Given the description of an element on the screen output the (x, y) to click on. 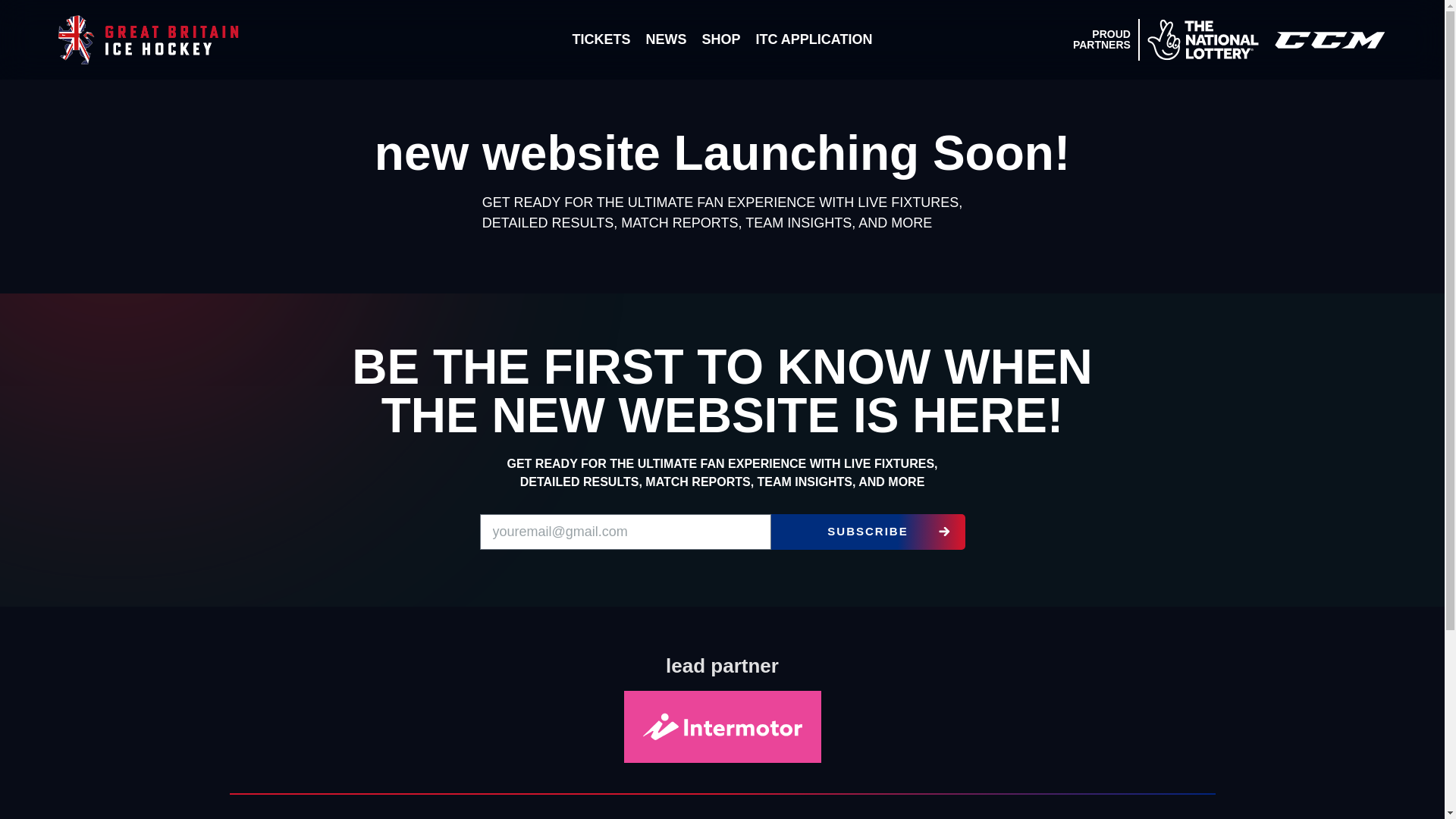
SHOP (721, 39)
ITC APPLICATION (813, 39)
SUBSCRIBE (866, 531)
NEWS (665, 39)
TICKETS (600, 39)
